Given the description of an element on the screen output the (x, y) to click on. 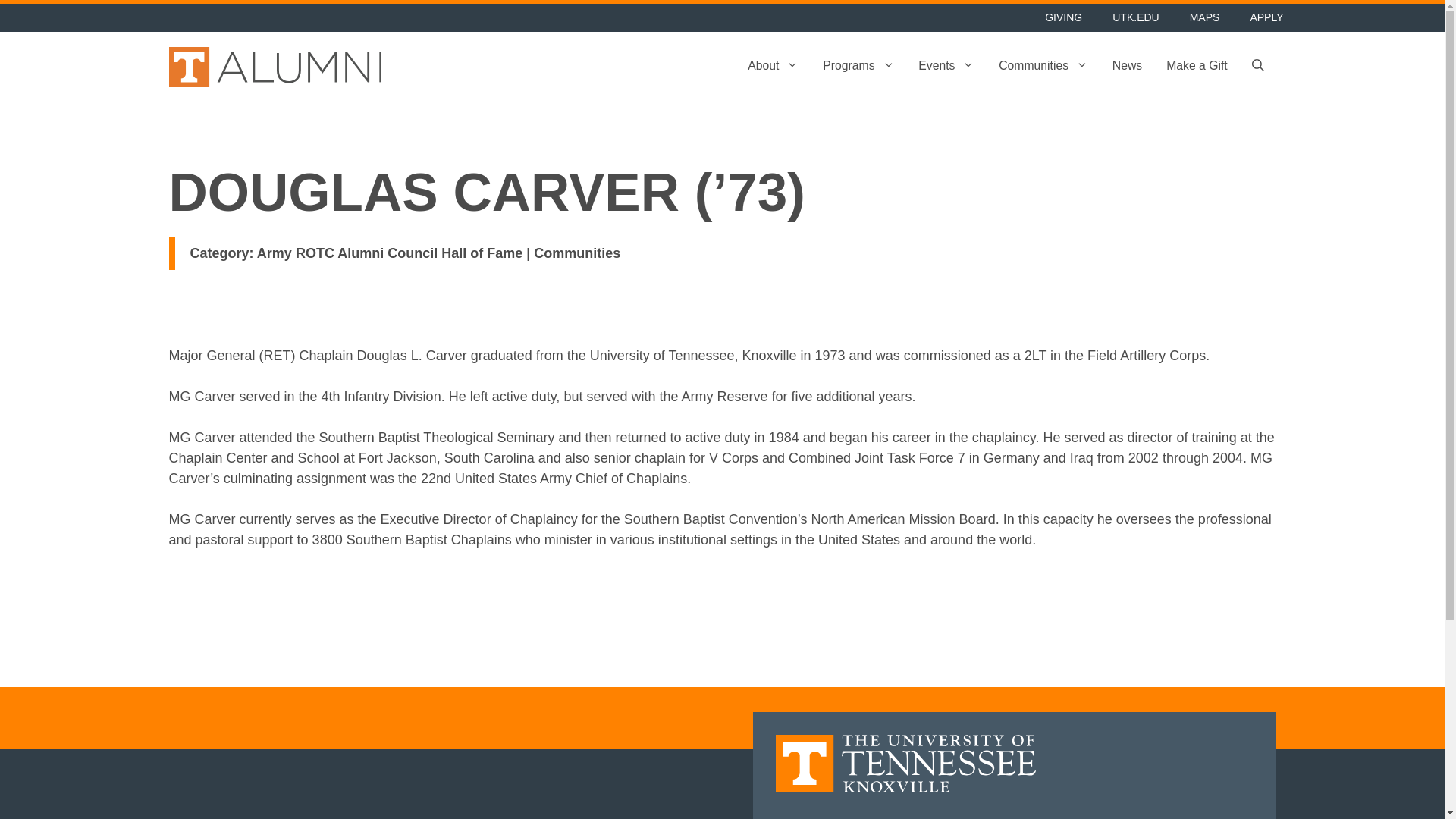
Communities (1043, 67)
UTK.EDU (1135, 17)
News (1127, 67)
Make a Gift (1197, 67)
About (772, 67)
MAPS (1204, 17)
Events (946, 67)
APPLY (1266, 17)
Programs (857, 67)
GIVING (1063, 17)
